Given the description of an element on the screen output the (x, y) to click on. 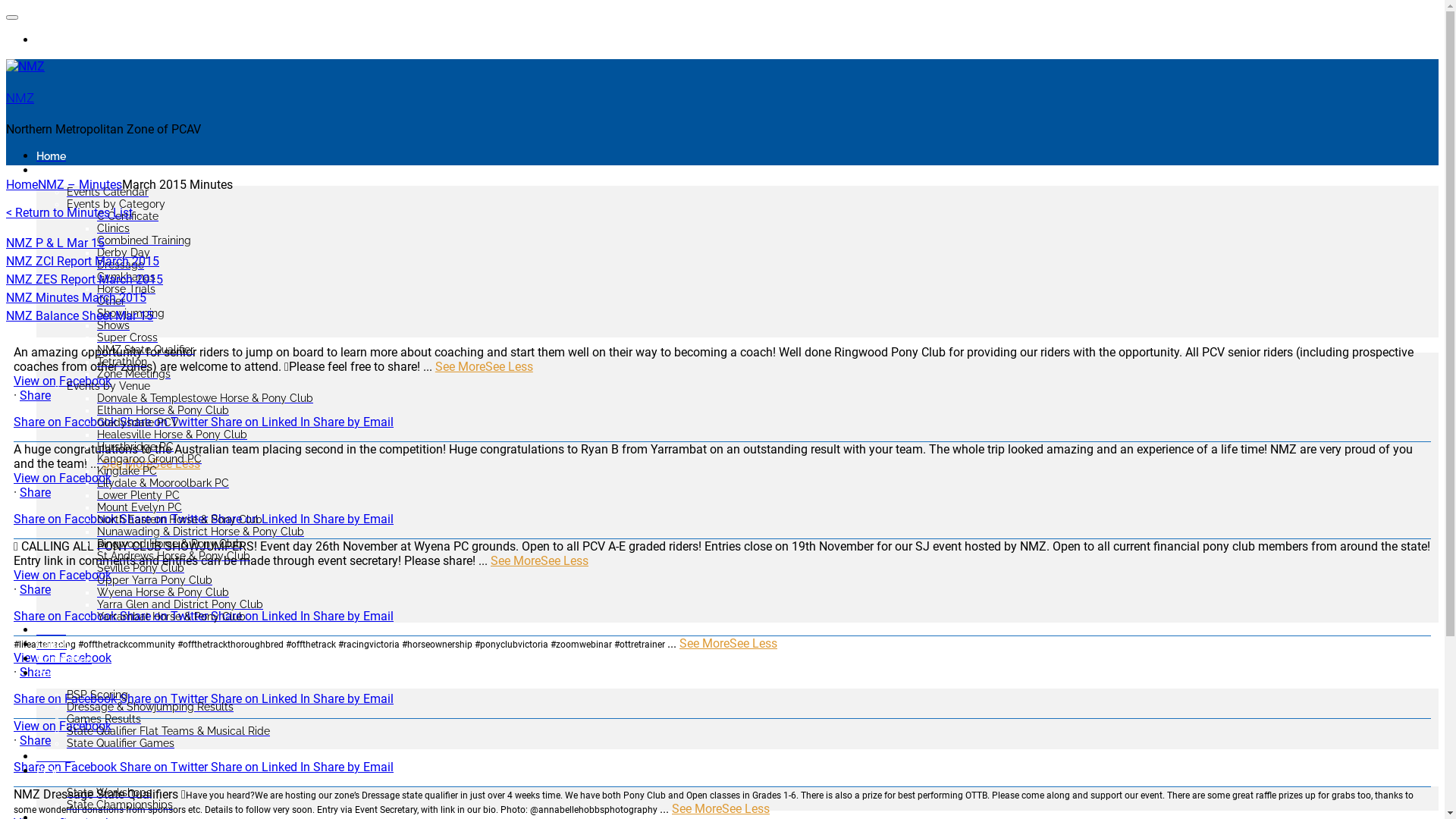
Other Element type: text (111, 300)
View on Facebook Element type: text (62, 725)
Share on Twitter Element type: text (164, 698)
Dressage Element type: text (120, 264)
Share on Linked In Element type: text (261, 766)
Share Element type: text (34, 740)
View on Facebook Element type: text (62, 574)
Share Element type: text (34, 395)
State Qualifier Games Element type: text (120, 743)
View on Facebook Element type: text (62, 380)
< Return to Minutes List Element type: text (69, 212)
Share on Twitter Element type: text (164, 421)
Share by Email Element type: text (353, 421)
Home Element type: text (50, 155)
North Eastern Horse & Pony Club Element type: text (179, 519)
Donvale & Templestowe Horse & Pony Club Element type: text (205, 398)
Tetrathlon Element type: text (122, 361)
Lower Plenty PC Element type: text (138, 495)
Share on Facebook Element type: text (66, 421)
Share on Facebook Element type: text (66, 698)
Showjumping Element type: text (130, 313)
Clinics Element type: text (113, 228)
Share on Linked In Element type: text (261, 615)
See MoreSee Less Element type: text (539, 560)
NMZ State Qualifier Element type: text (145, 349)
Events Calendar Element type: text (107, 191)
NMZ Balance Sheet Mar 15 Element type: text (79, 315)
Share by Email Element type: text (353, 615)
Gladysdale PCV Element type: text (137, 422)
Clubs Element type: text (50, 629)
Share on Linked In Element type: text (261, 518)
Eltham Horse & Pony Club Element type: text (163, 410)
Share on Facebook Element type: text (66, 615)
NMZ ZCI Report March 2015 Element type: text (82, 261)
Share by Email Element type: text (353, 766)
Combined Training Element type: text (144, 240)
Share on Twitter Element type: text (164, 766)
Derby Day Element type: text (123, 252)
Yarrambat Horse & Pony Club Element type: text (171, 616)
See MoreSee Less Element type: text (151, 463)
Share on Linked In Element type: text (261, 421)
Nunawading & District Horse & Pony Club Element type: text (200, 531)
Gallery Element type: text (54, 644)
Super Cross Element type: text (127, 337)
View on Facebook Element type: text (62, 477)
View on Facebook Element type: text (62, 657)
Lilydale & Mooroolbark PC Element type: text (163, 482)
St Andrews Horse & Pony Club Element type: text (173, 555)
State Championships Element type: text (119, 804)
Upper Yarra Pony Club Element type: text (154, 580)
Yarra Glen and District Pony Club Element type: text (180, 604)
NMZ Minutes March 2015 Element type: text (76, 297)
Horse Trials Element type: text (126, 288)
Share on Linked In Element type: text (261, 698)
Wyena Horse & Pony Club Element type: text (163, 592)
NMZ P & L Mar 15 Element type: text (55, 242)
Shows Element type: text (113, 325)
NMZ ZES Report March 2015 Element type: text (84, 279)
Share on Twitter Element type: text (164, 615)
Kinglake PC Element type: text (126, 470)
Share Element type: text (34, 672)
Zone Meetings Element type: text (133, 373)
Share Element type: text (34, 492)
Share on Facebook Element type: text (66, 766)
Share on Twitter Element type: text (164, 518)
NMZ Element type: text (20, 97)
Kangaroo Ground PC Element type: text (149, 458)
Home Element type: text (21, 184)
Hurstbridge PC Element type: text (135, 446)
Ringwood Horse & Pony Club Element type: text (169, 543)
BSP Scoring Element type: text (97, 694)
Committee Element type: text (63, 658)
See MoreSee Less Element type: text (720, 808)
Share on Facebook Element type: text (66, 518)
Share Element type: text (34, 589)
Dressage & Showjumping Results Element type: text (149, 706)
Share by Email Element type: text (353, 518)
See MoreSee Less Element type: text (484, 366)
Games Results Element type: text (103, 718)
Mount Evelyn PC Element type: text (139, 507)
DCI/ZA Element type: text (55, 756)
State Qualifier Flat Teams & Musical Ride Element type: text (167, 730)
Seville Pony Club Element type: text (140, 567)
See MoreSee Less Element type: text (728, 643)
Healesville Horse & Pony Club Element type: text (172, 434)
Gymkhanas Element type: text (126, 276)
C Certificate Element type: text (127, 216)
Share by Email Element type: text (353, 698)
State Workshops Element type: text (108, 792)
